Given the description of an element on the screen output the (x, y) to click on. 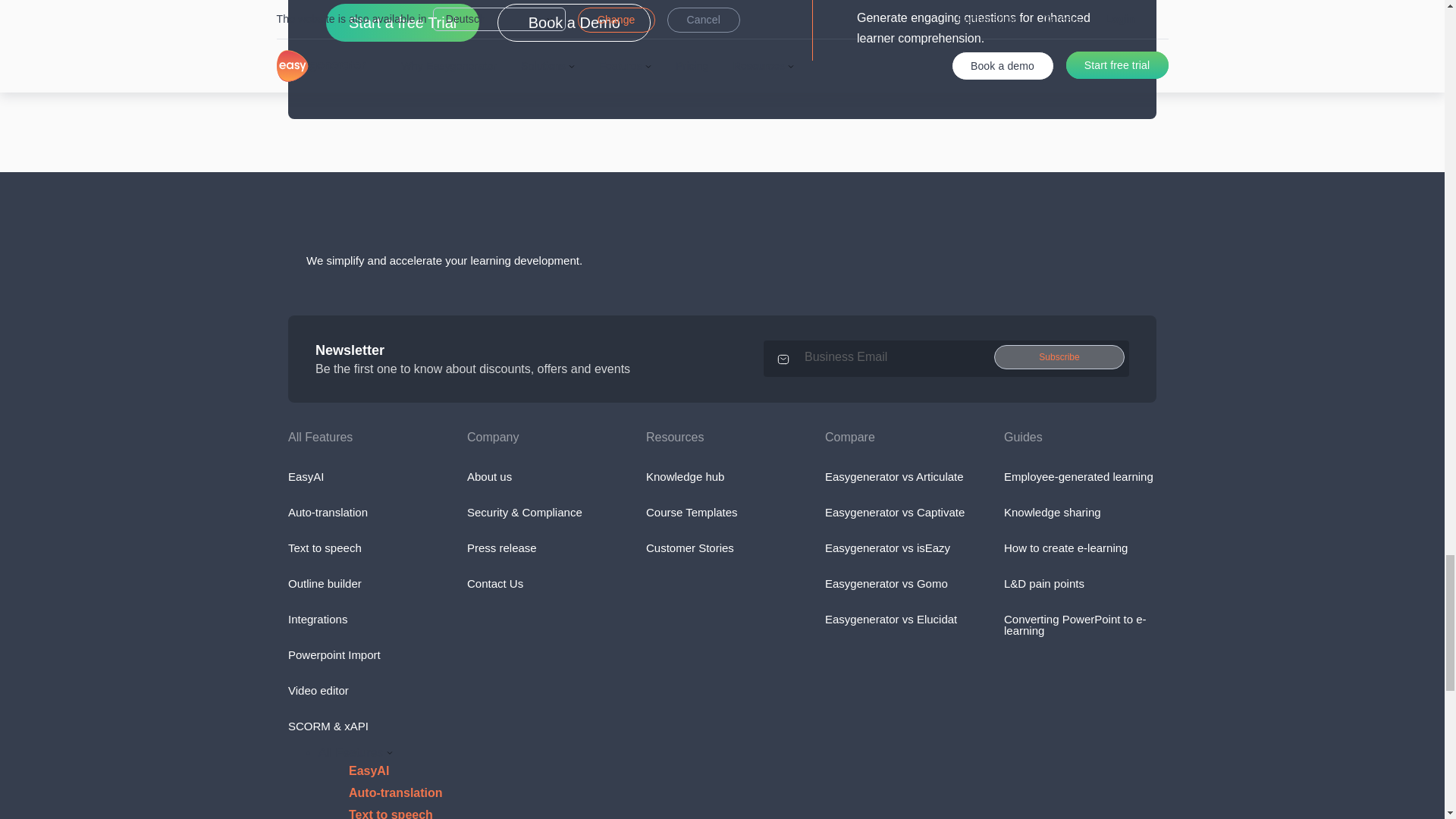
Subscribe (1059, 356)
